Given the description of an element on the screen output the (x, y) to click on. 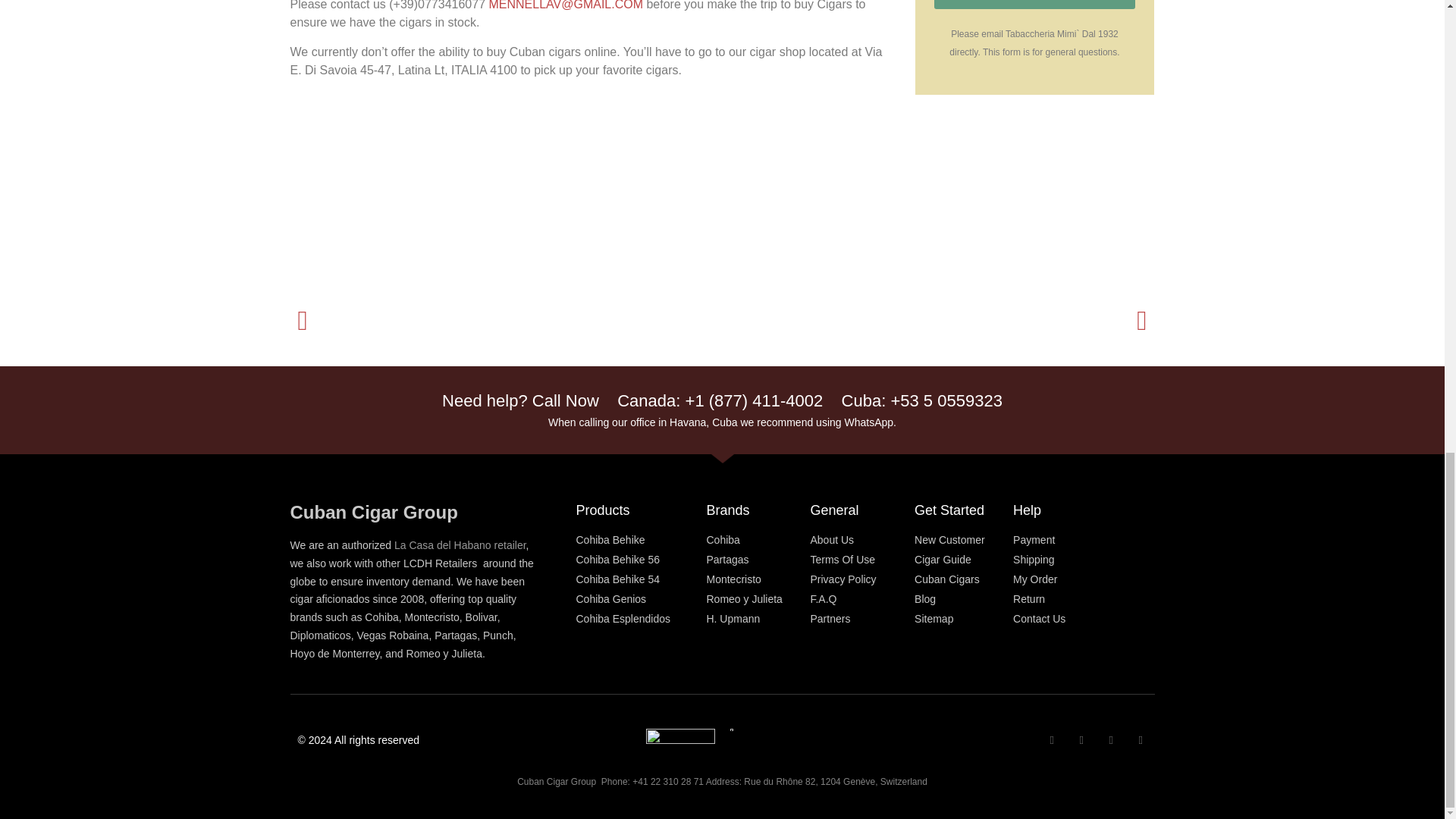
SEND (1034, 4)
